Given the description of an element on the screen output the (x, y) to click on. 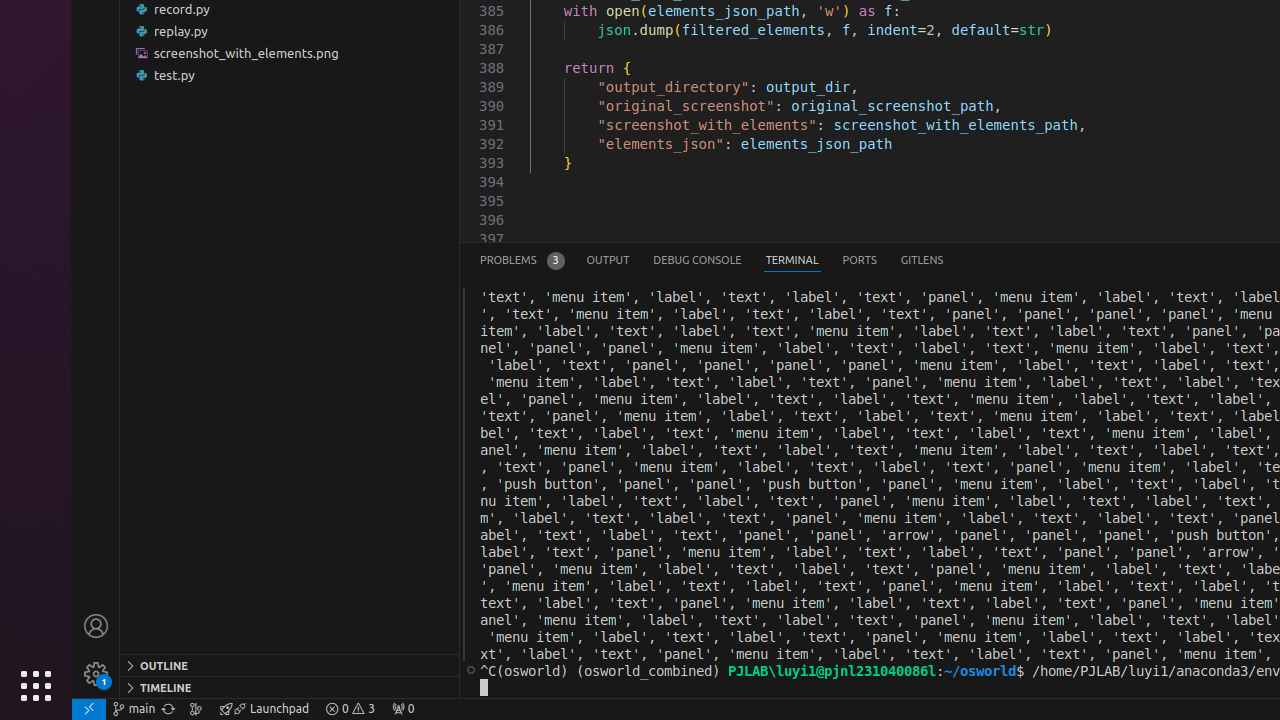
Terminal (Ctrl+`) Element type: page-tab (792, 260)
No Ports Forwarded Element type: push-button (403, 709)
